Given the description of an element on the screen output the (x, y) to click on. 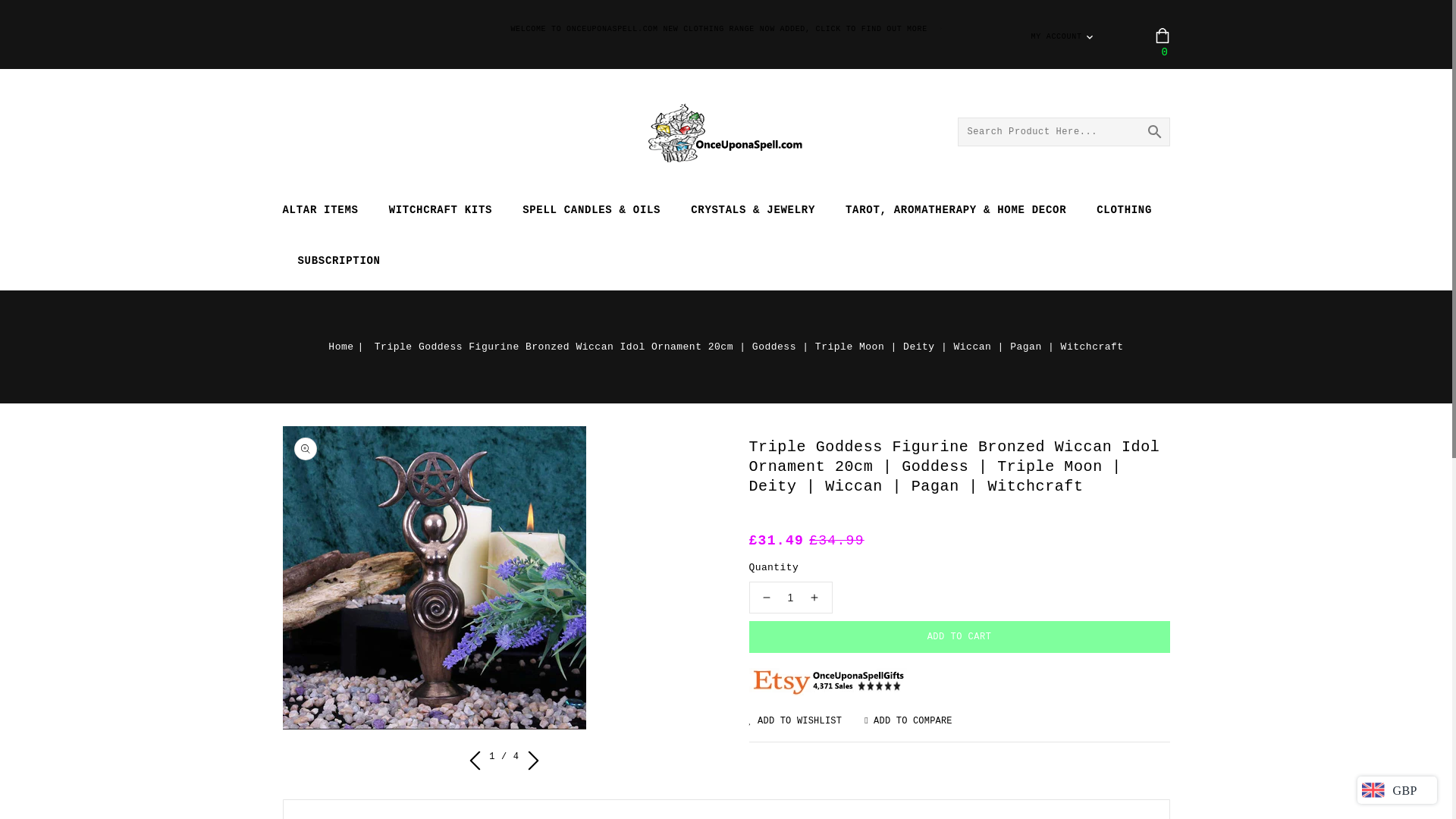
Home (348, 346)
SKIP TO CONTENT (16, 7)
